Given the description of an element on the screen output the (x, y) to click on. 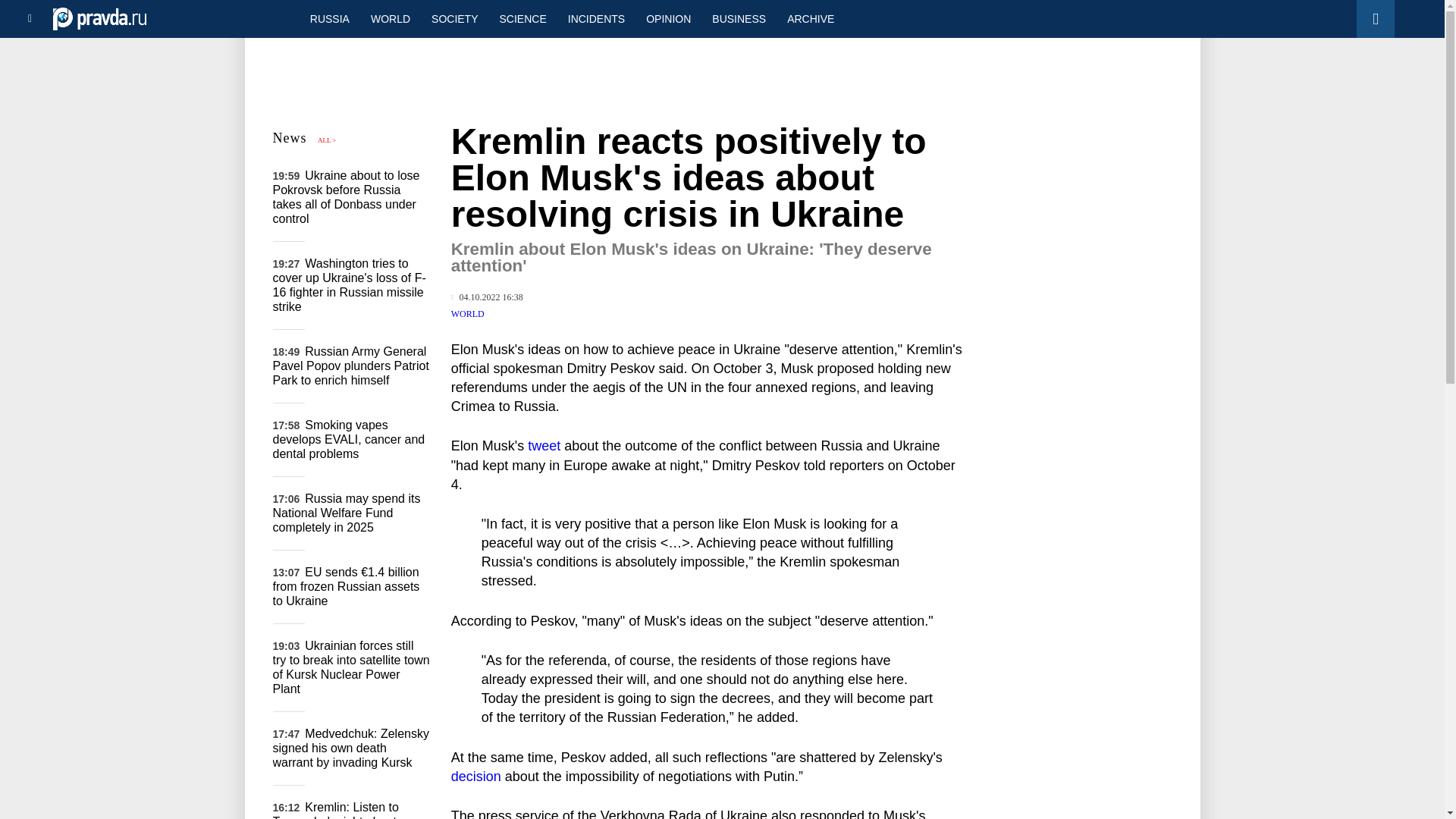
RUSSIA (329, 18)
ARCHIVE (810, 18)
SOCIETY (453, 18)
News (290, 137)
BUSINESS (738, 18)
OPINION (667, 18)
SCIENCE (523, 18)
